Given the description of an element on the screen output the (x, y) to click on. 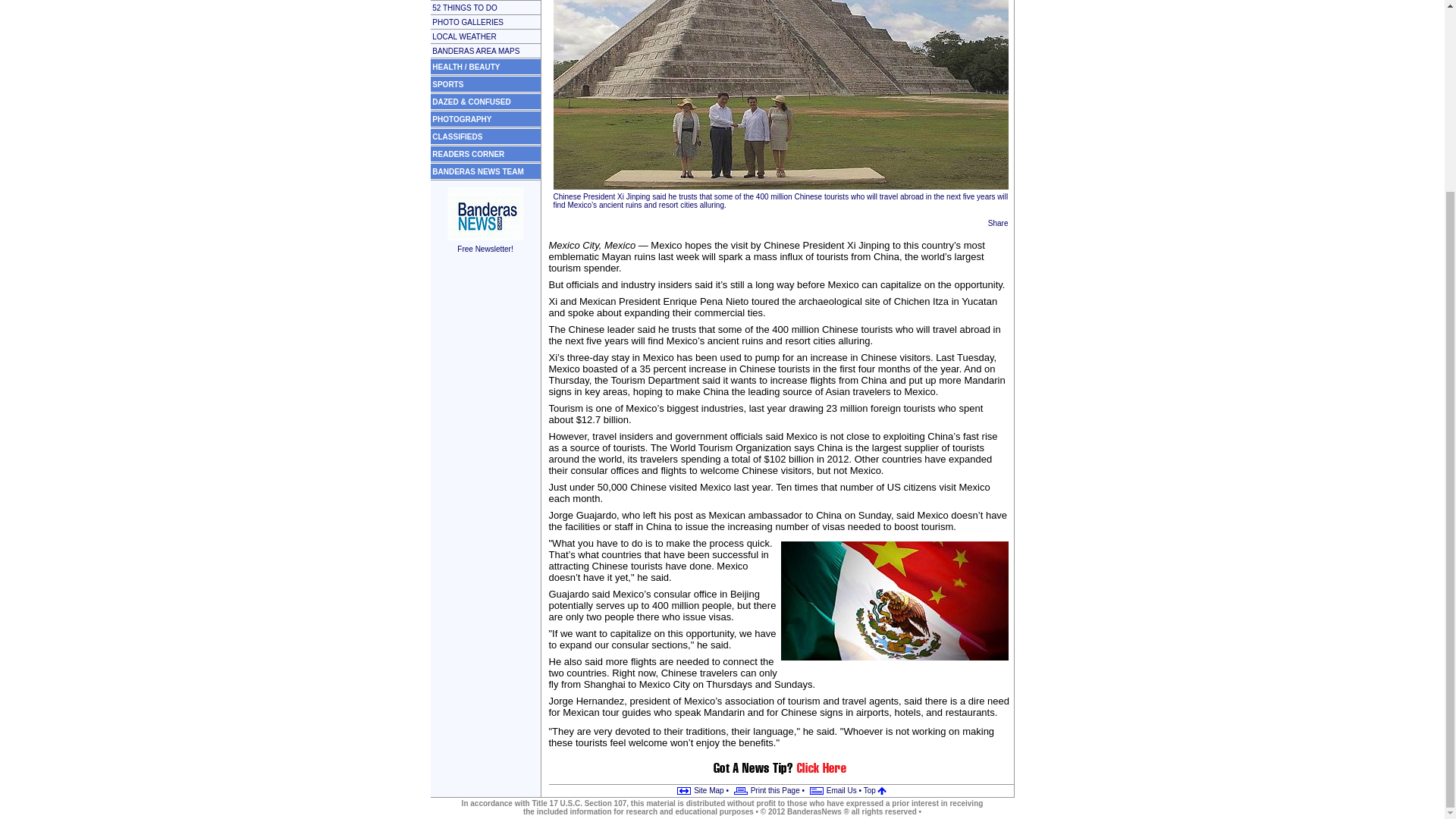
PHOTO GALLERIES (467, 22)
LOCAL WEATHER (464, 35)
Share (998, 222)
SPORTS (447, 84)
BANDERAS AREA MAPS (475, 50)
52 THINGS TO DO (464, 7)
Free Newsletter! (484, 243)
READERS CORNER (467, 153)
BANDERAS NEWS TEAM (478, 171)
PHOTOGRAPHY (462, 119)
CLASSIFIEDS (456, 135)
